Given the description of an element on the screen output the (x, y) to click on. 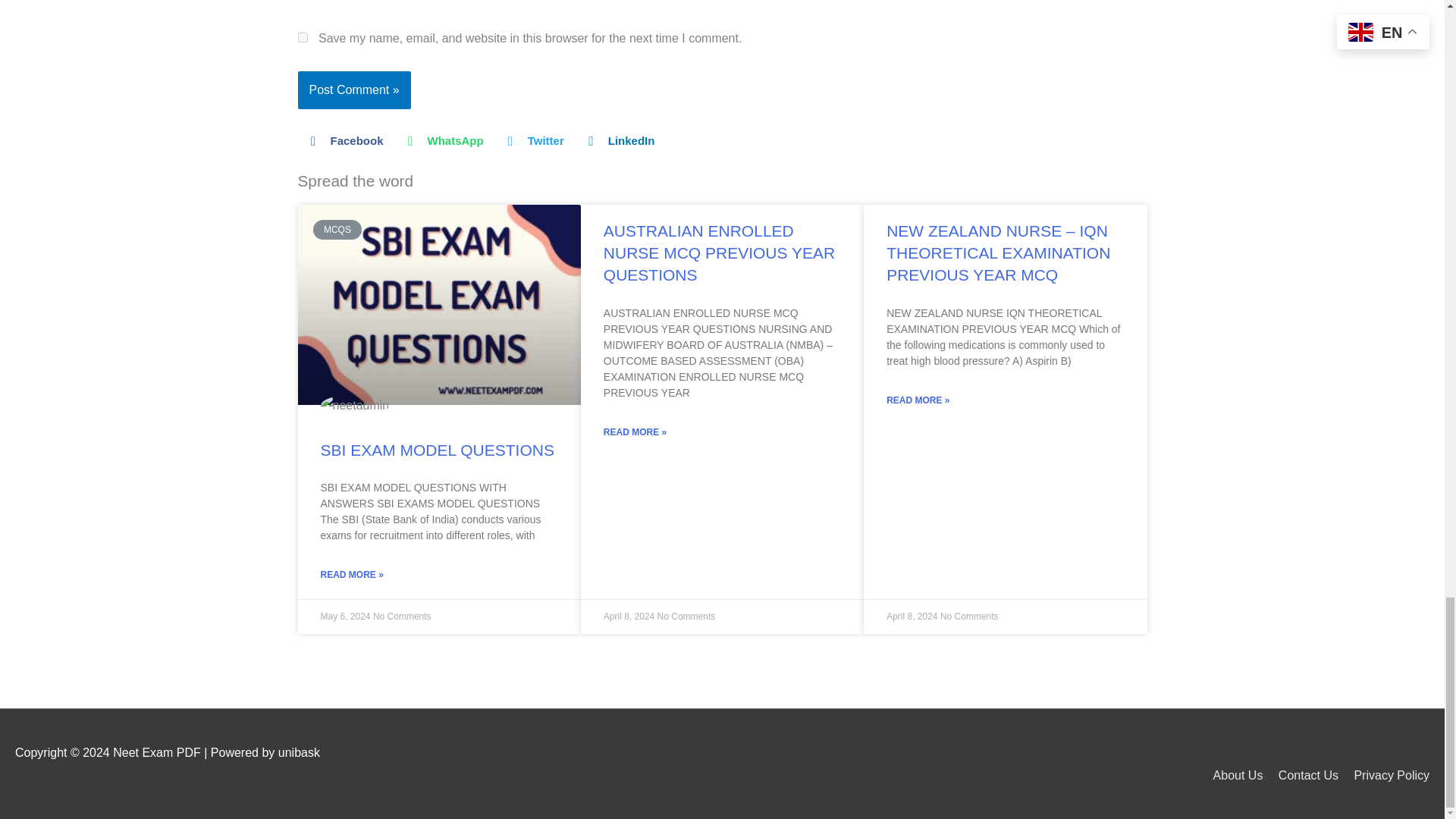
AUSTRALIAN ENROLLED NURSE MCQ PREVIOUS YEAR QUESTIONS (719, 252)
yes (302, 37)
SBI EXAM MODEL QUESTIONS (436, 449)
